Given the description of an element on the screen output the (x, y) to click on. 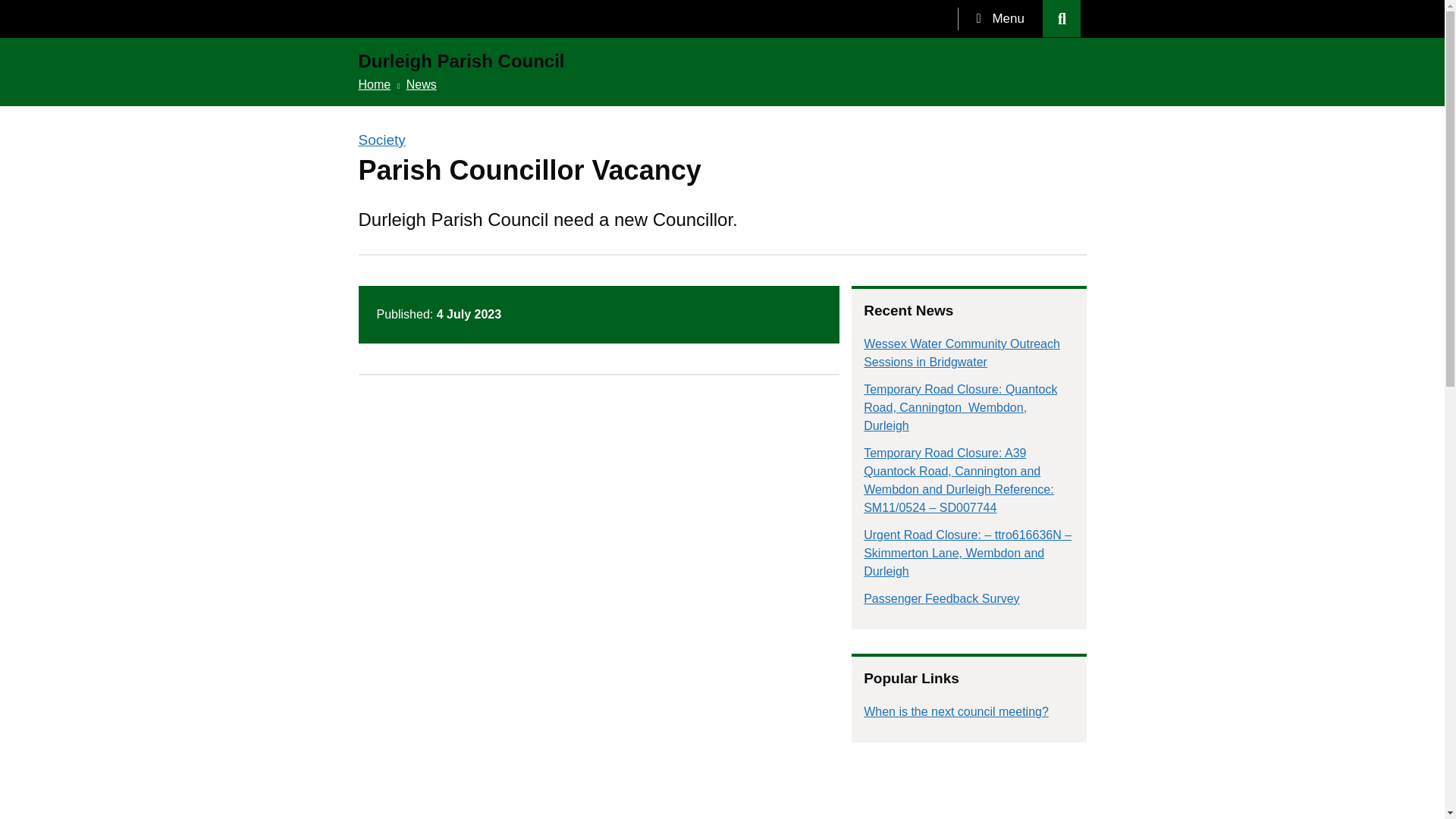
Home (374, 83)
Passenger Feedback Survey (941, 598)
When is the next council meeting? (955, 711)
Menu (1000, 18)
Wessex Water Community Outreach Sessions in Bridgwater (961, 352)
Skip to main content (11, 7)
Durleigh Parish Council (461, 62)
Society (381, 139)
News (421, 83)
